Given the description of an element on the screen output the (x, y) to click on. 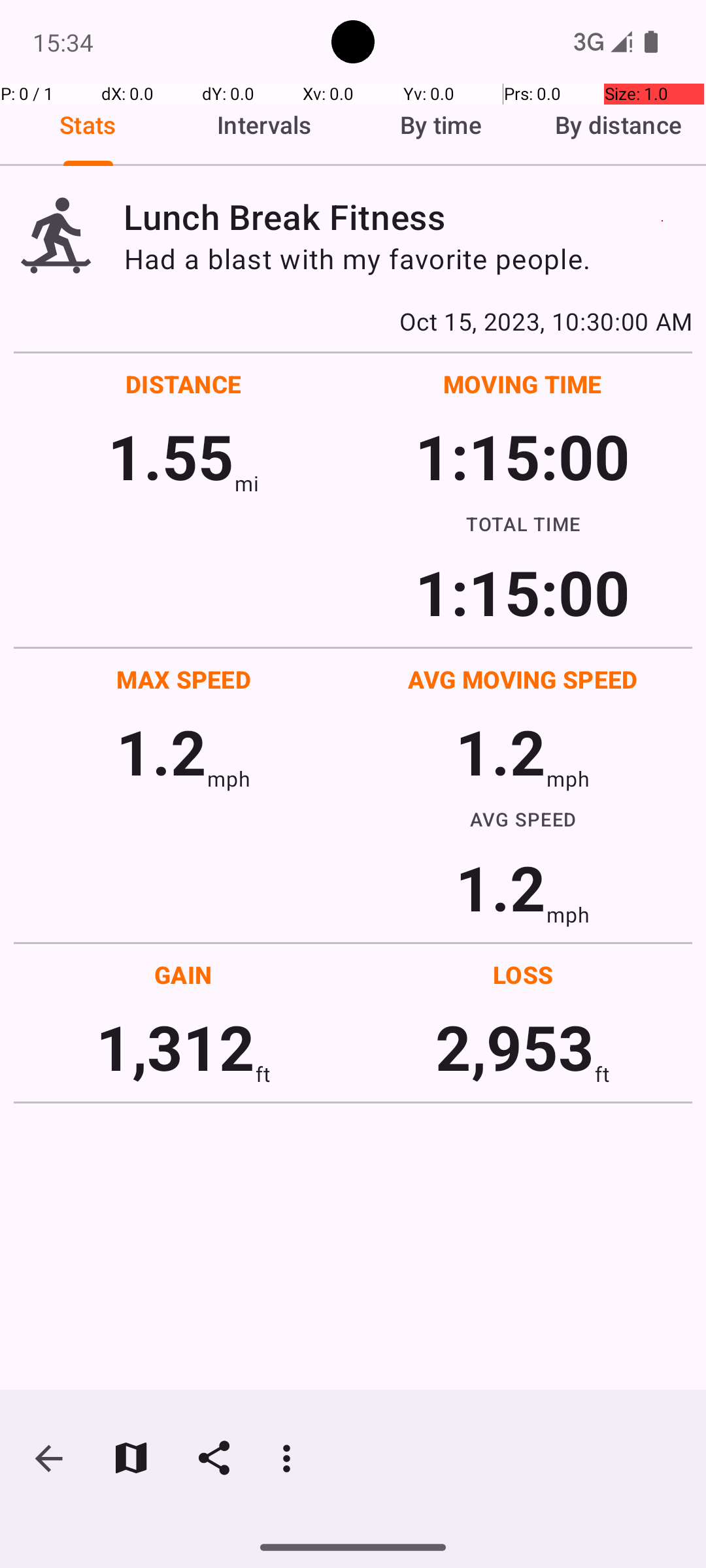
Lunch Break Fitness Element type: android.widget.TextView (407, 216)
Had a blast with my favorite people. Element type: android.widget.TextView (407, 258)
Oct 15, 2023, 10:30:00 AM Element type: android.widget.TextView (352, 320)
1.55 Element type: android.widget.TextView (170, 455)
1:15:00 Element type: android.widget.TextView (522, 455)
1.2 Element type: android.widget.TextView (161, 750)
1,312 Element type: android.widget.TextView (175, 1045)
2,953 Element type: android.widget.TextView (514, 1045)
